Given the description of an element on the screen output the (x, y) to click on. 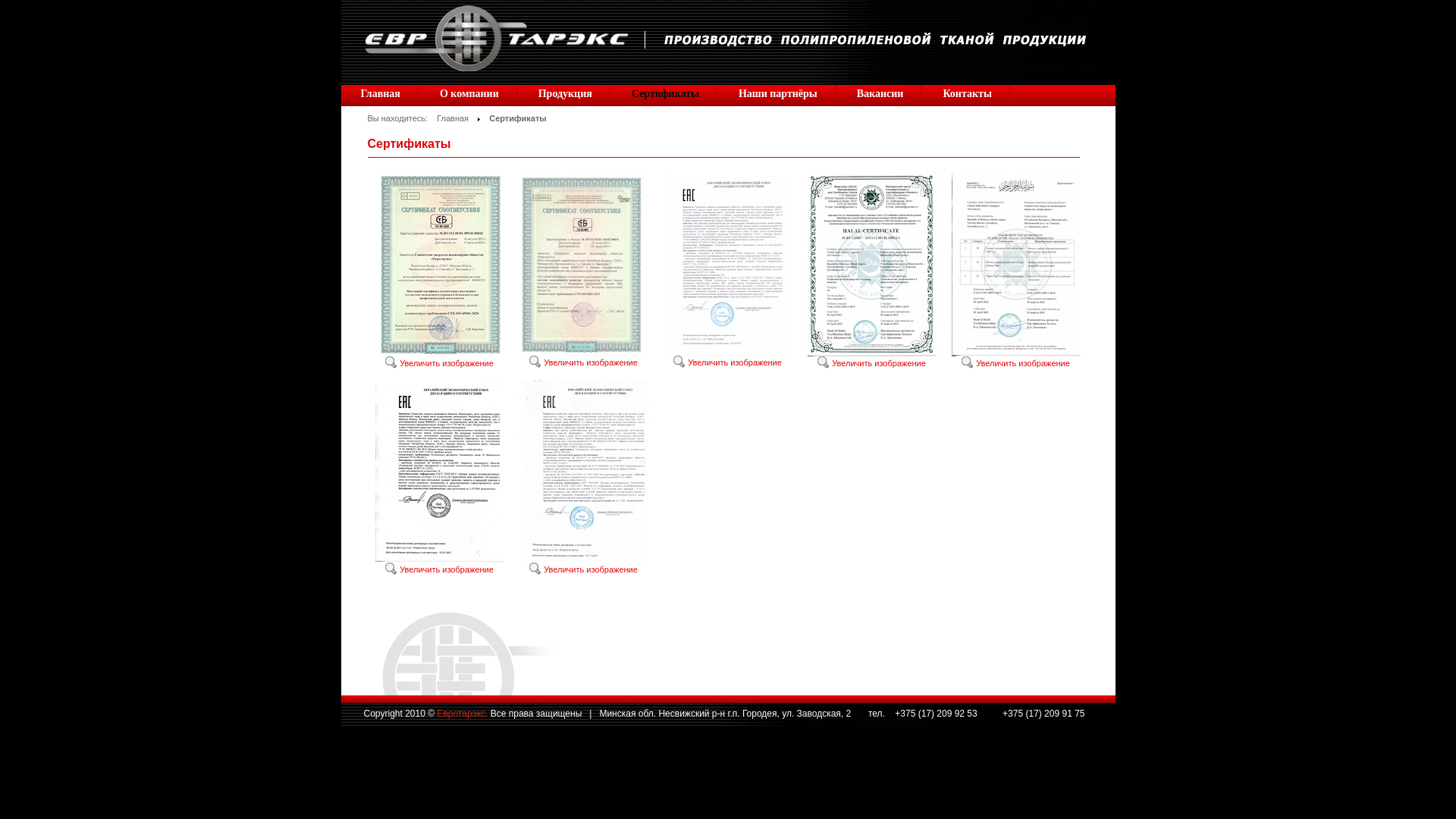
+375 (17) 209 92 53 Element type: text (937, 713)
+375 (17) 209 91 75 Element type: text (1043, 713)
